Given the description of an element on the screen output the (x, y) to click on. 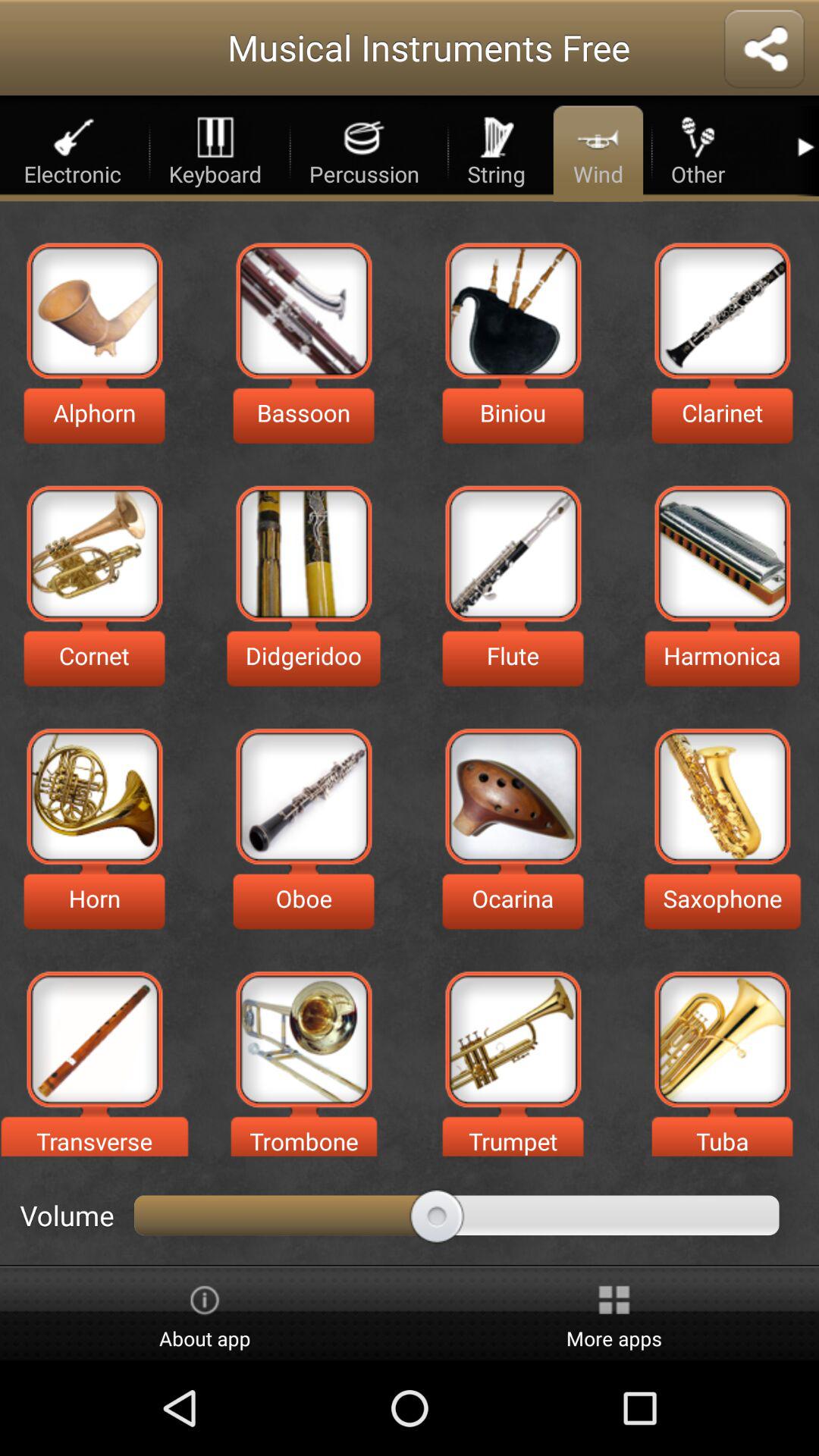
select this option (94, 1039)
